Given the description of an element on the screen output the (x, y) to click on. 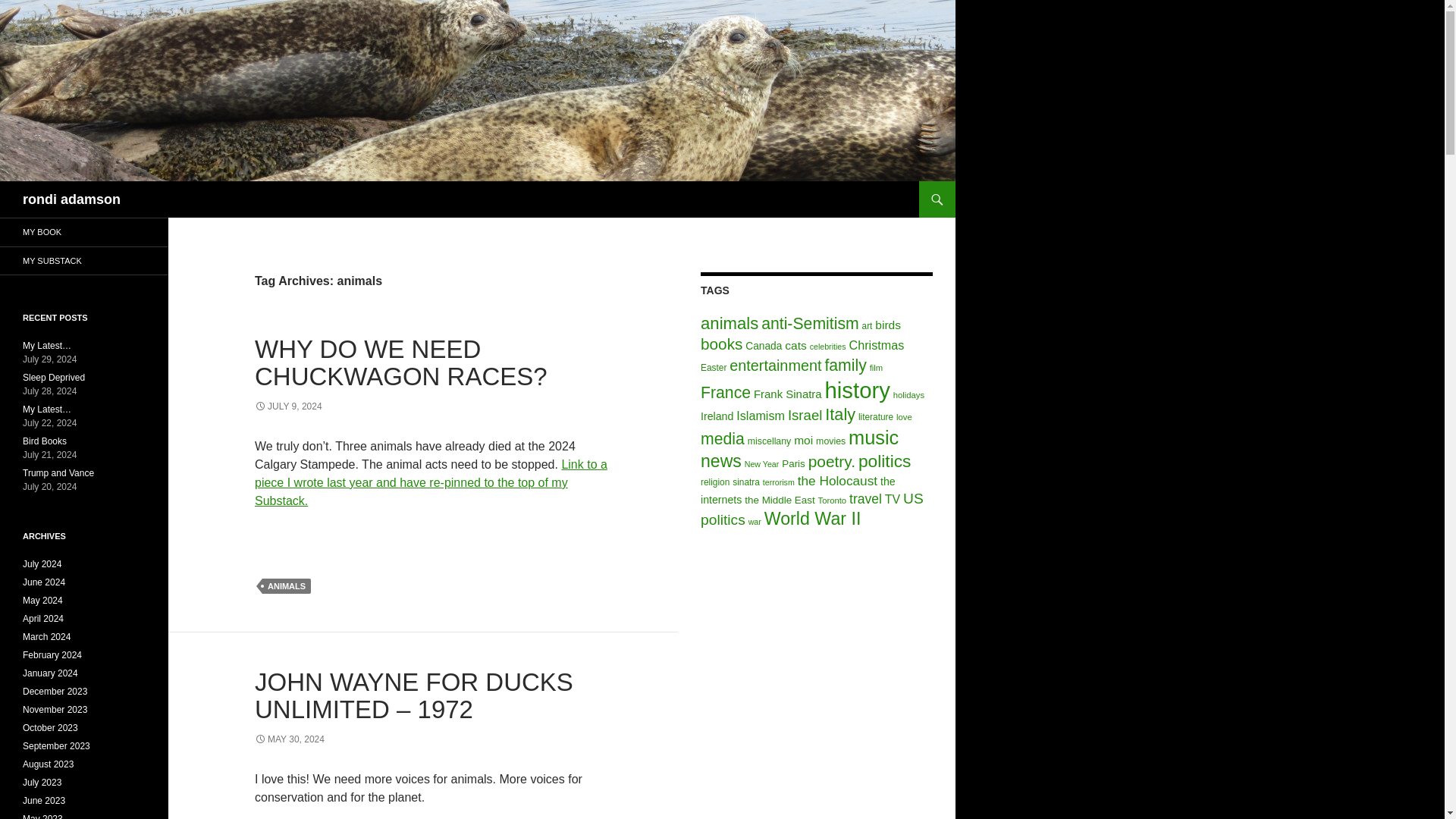
rondi adamson (71, 198)
ANIMALS (286, 585)
MAY 30, 2024 (289, 738)
JULY 9, 2024 (287, 406)
WHY DO WE NEED CHUCKWAGON RACES? (400, 362)
